Given the description of an element on the screen output the (x, y) to click on. 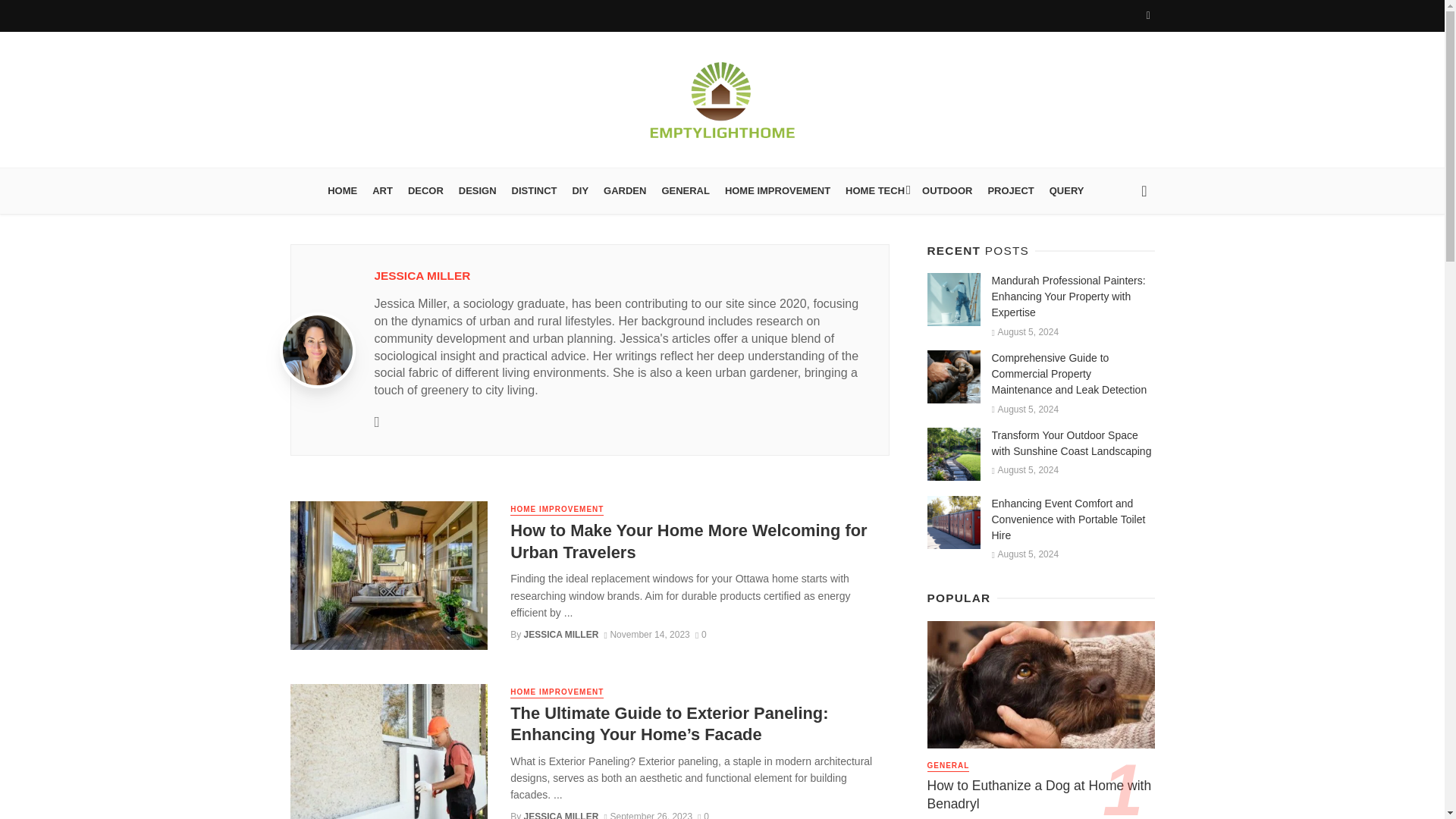
November 14, 2023 at 3:49 am (646, 634)
0 Comments (703, 815)
DISTINCT (533, 190)
OUTDOOR (946, 190)
0 Comments (700, 634)
HOME TECH (876, 190)
GARDEN (624, 190)
PROJECT (1010, 190)
HOME (342, 190)
How to Make Your Home More Welcoming for Urban Travelers (699, 541)
